Given the description of an element on the screen output the (x, y) to click on. 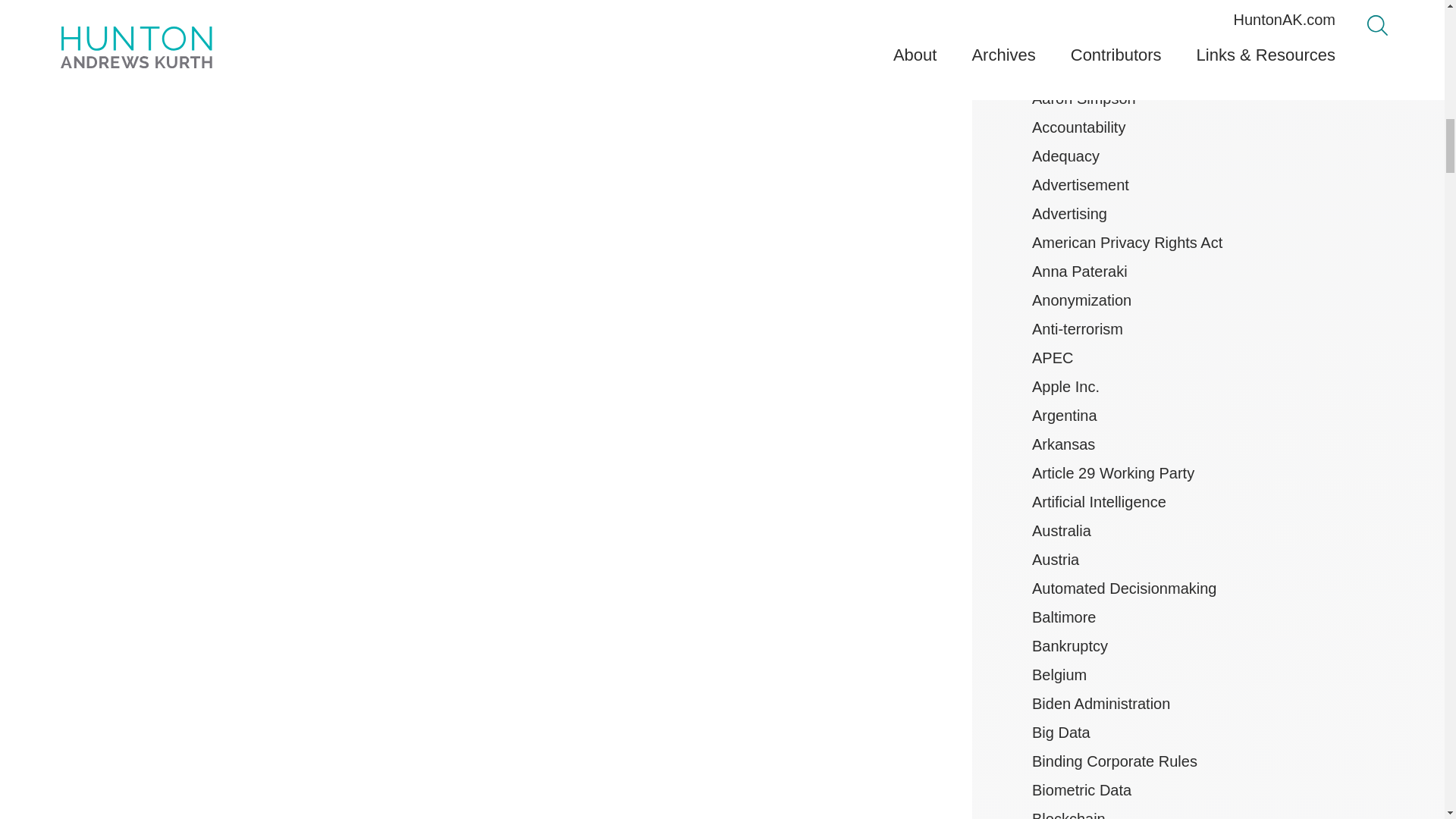
Linkedin (863, 4)
Facebook (882, 4)
Email (815, 4)
Email (818, 3)
Facebook (886, 3)
Print (788, 4)
Linkedin (866, 3)
Print (791, 3)
